Given the description of an element on the screen output the (x, y) to click on. 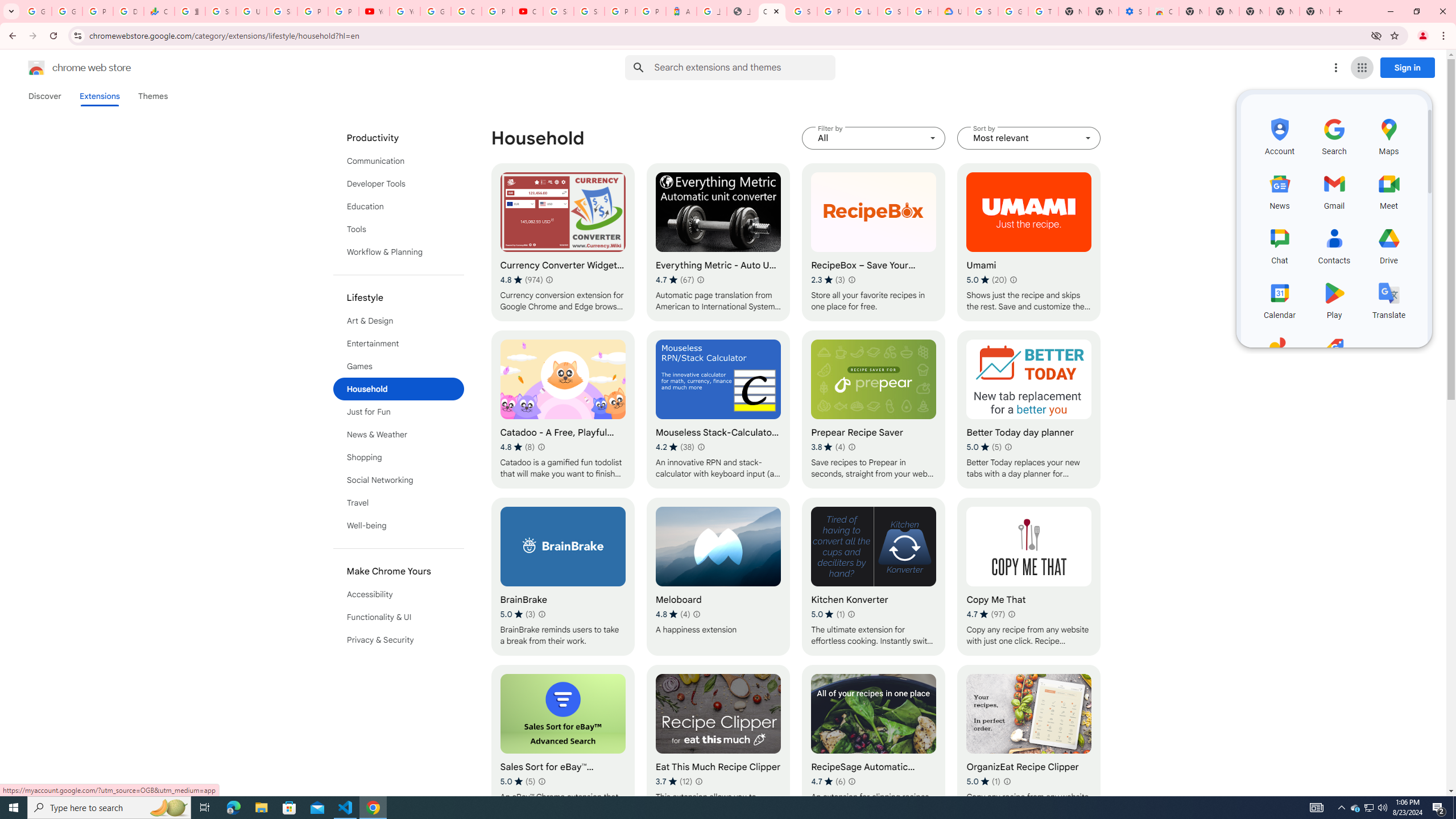
Currencies - Google Finance (158, 11)
Average rating 4.8 out of 5 stars. 8 ratings. (517, 446)
Sign in - Google Accounts (589, 11)
Communication (398, 160)
Learn more about results and reviews "Umami" (1013, 279)
Average rating 5 out of 5 stars. 5 ratings. (517, 781)
Travel (398, 502)
Learn more about results and reviews "Copy Me That" (1010, 613)
